Given the description of an element on the screen output the (x, y) to click on. 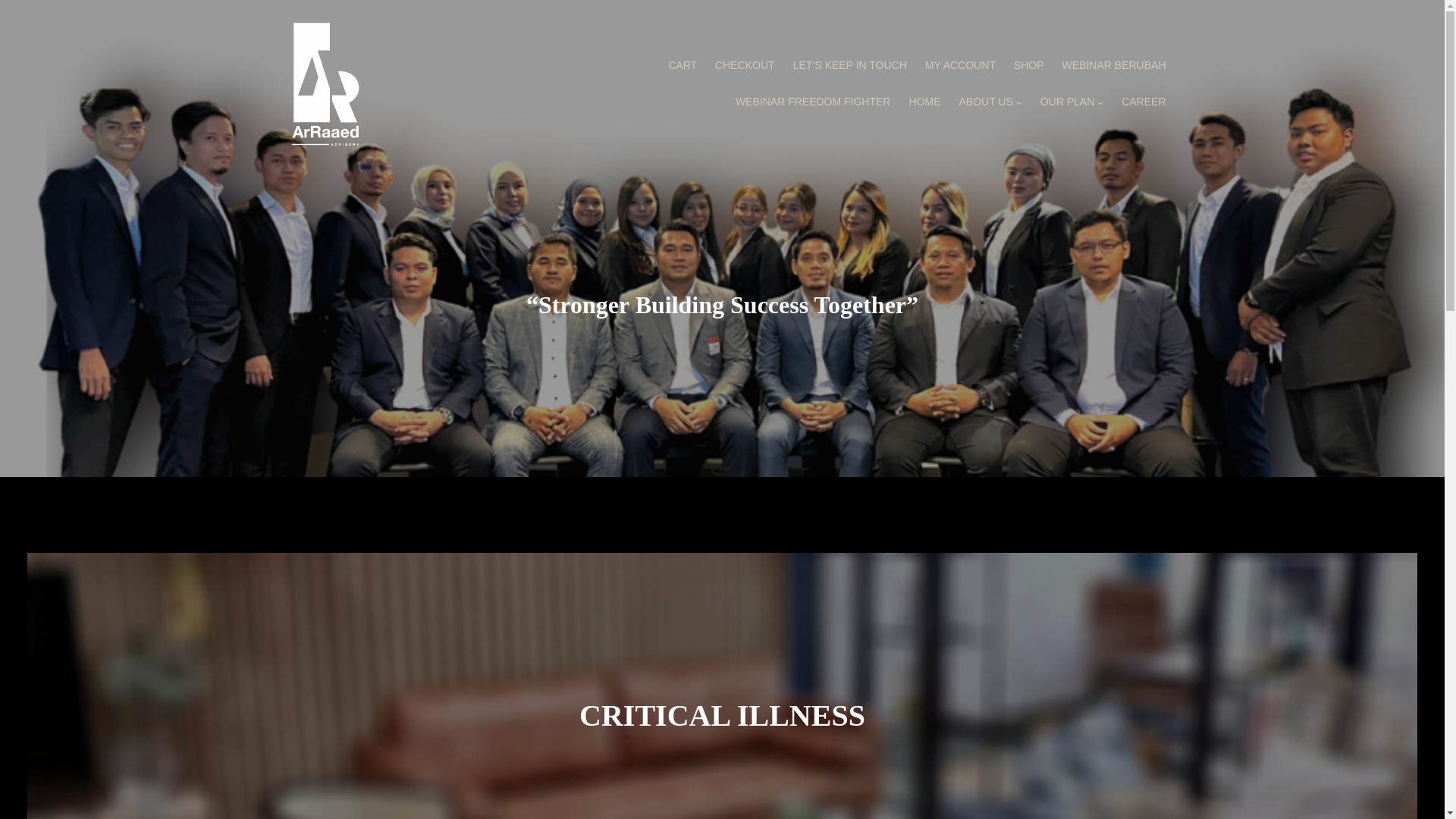
ABOUT US (984, 102)
WEBINAR FREEDOM FIGHTER (813, 102)
CAREER (1143, 102)
MY ACCOUNT (959, 65)
OUR PLAN (1067, 102)
CHECKOUT (744, 65)
HOME (924, 102)
CART (682, 65)
WEBINAR BERUBAH (1114, 65)
SHOP (1028, 65)
